Given the description of an element on the screen output the (x, y) to click on. 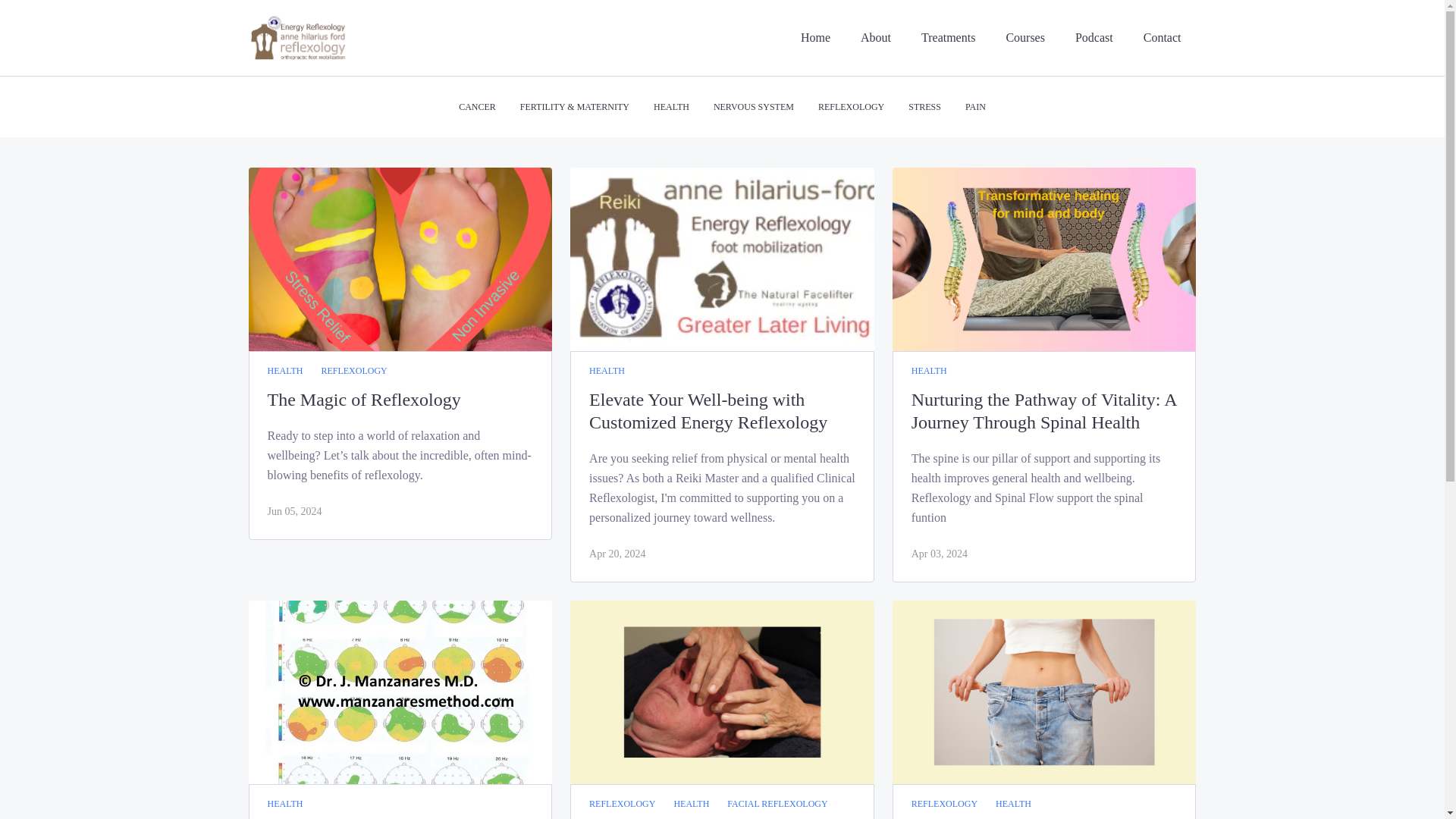
HEALTH (1012, 804)
Contact (1161, 37)
Elevate Your Well-being with Customized Energy Reflexology (722, 411)
NERVOUS SYSTEM (753, 106)
REFLEXOLOGY (353, 371)
Home (814, 37)
REFLEXOLOGY (850, 106)
About (875, 37)
REFLEXOLOGY (943, 804)
The Magic of Reflexology (399, 399)
Courses (1025, 37)
HEALTH (606, 371)
HEALTH (284, 371)
HEALTH (929, 371)
